Given the description of an element on the screen output the (x, y) to click on. 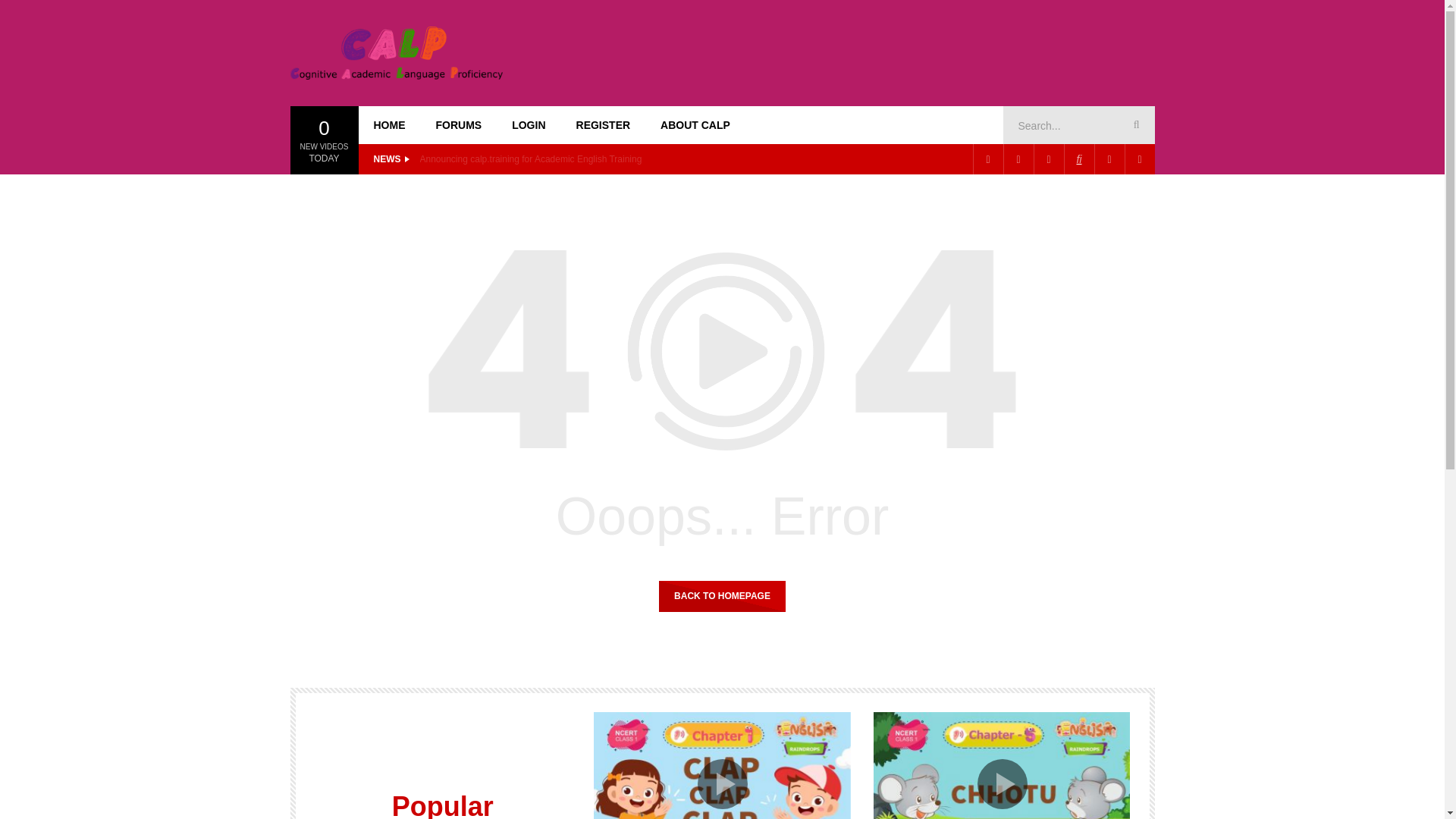
Notifications (1139, 159)
Search (1133, 125)
CALP Training (395, 52)
Youtube (1047, 159)
BACK TO HOMEPAGE (722, 595)
ABOUT CALP (695, 125)
TikTok (1077, 159)
Announcing calp.training for Academic English Training (531, 158)
Search (1133, 125)
FORUMS (458, 125)
Watch later (1108, 159)
Pinterest (1017, 159)
LOGIN (528, 125)
Announcing calp.training for Academic English Training (531, 158)
HOME (389, 125)
